Given the description of an element on the screen output the (x, y) to click on. 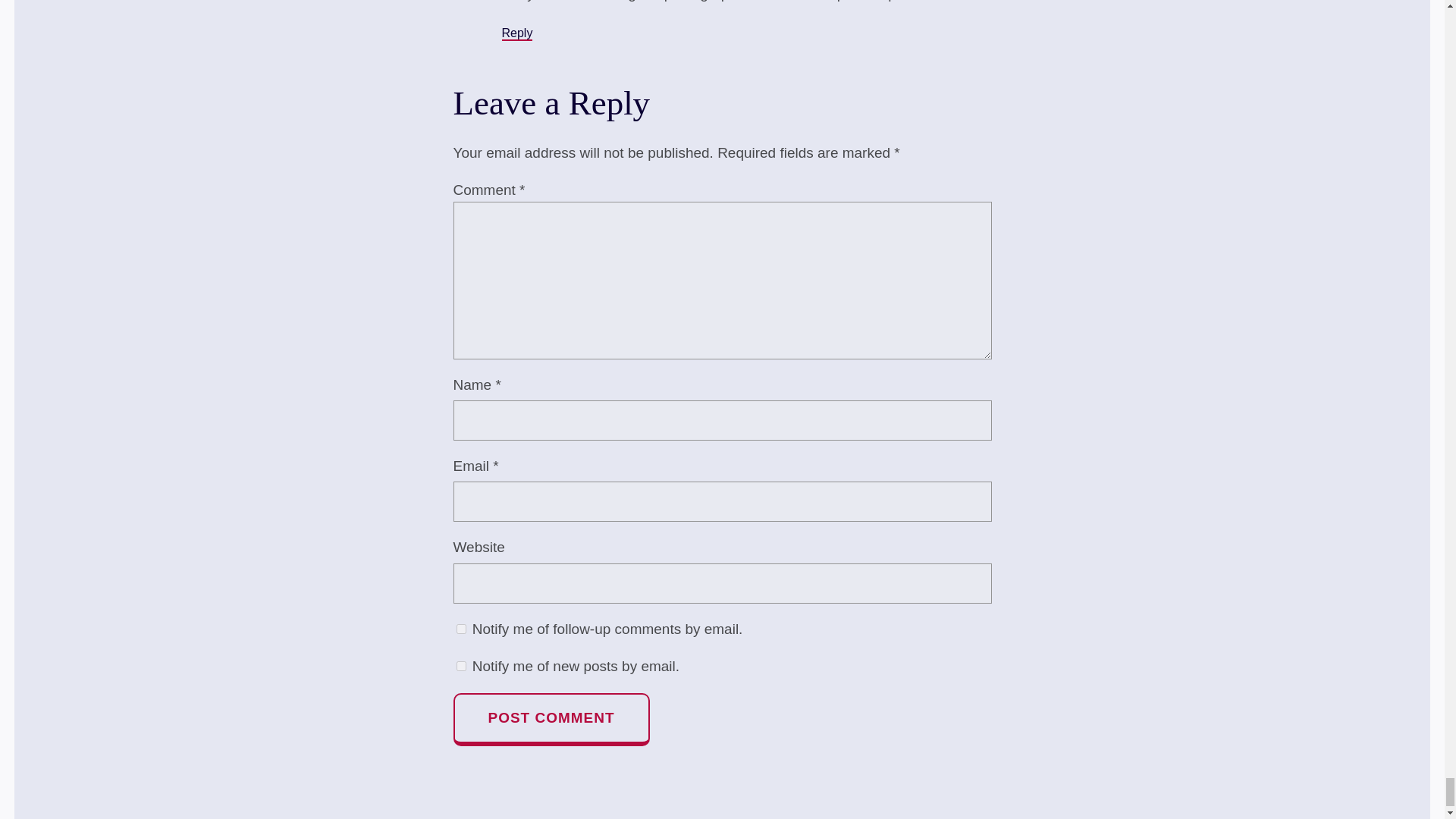
Post Comment (550, 719)
subscribe (461, 628)
subscribe (461, 665)
Reply (517, 33)
Post Comment (550, 719)
